Given the description of an element on the screen output the (x, y) to click on. 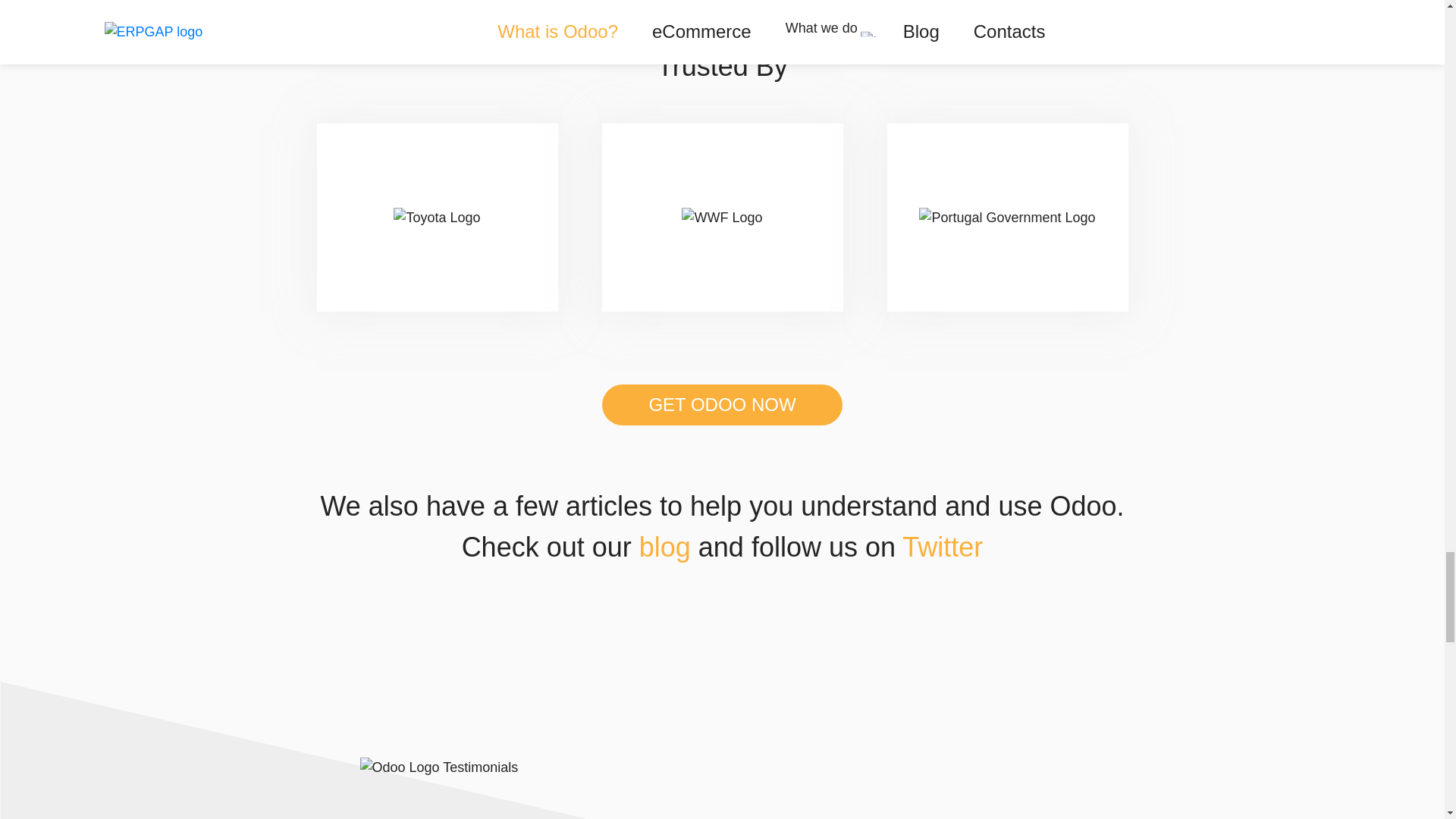
Twitter (942, 546)
blog (664, 546)
GET ODOO NOW (721, 404)
